Given the description of an element on the screen output the (x, y) to click on. 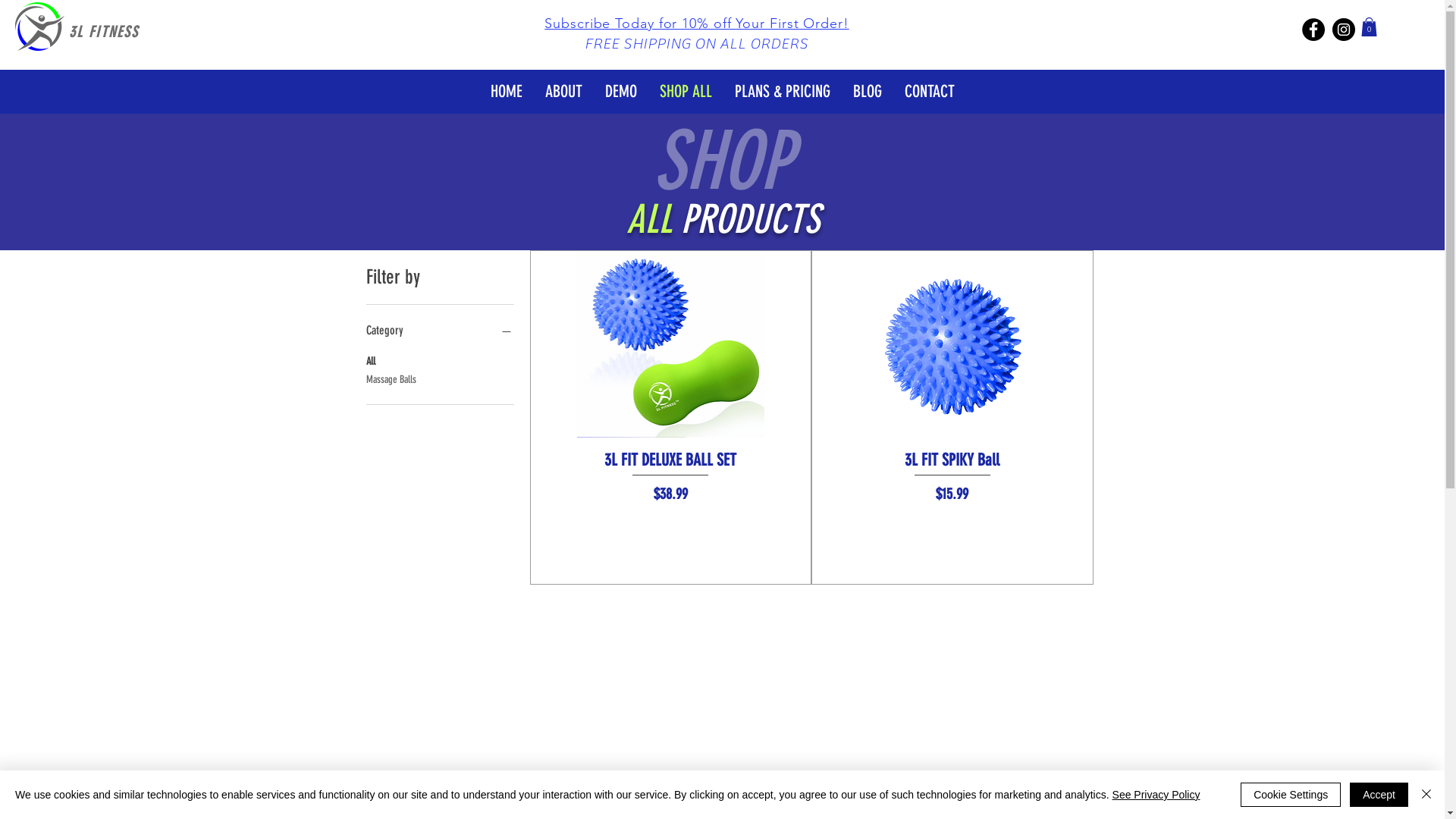
HOME Element type: text (506, 91)
0 Element type: text (1369, 26)
Category Element type: text (439, 330)
PLANS & PRICING Element type: text (782, 91)
SHOP ALL Element type: text (684, 91)
BLOG Element type: text (867, 91)
3L FIT DELUXE BALL SET
Price
$38.99 Element type: text (670, 477)
CONTACT Element type: text (929, 91)
Subscribe Today for 10% off Your First Order! Element type: text (696, 23)
DEMO Element type: text (620, 91)
ABOUT Element type: text (563, 91)
Cookie Settings Element type: text (1290, 794)
Accept Element type: text (1378, 794)
3L FITNESS Element type: text (103, 31)
3L FIT SPIKY Ball
Price
$15.99 Element type: text (952, 477)
See Privacy Policy Element type: text (1156, 794)
